Given the description of an element on the screen output the (x, y) to click on. 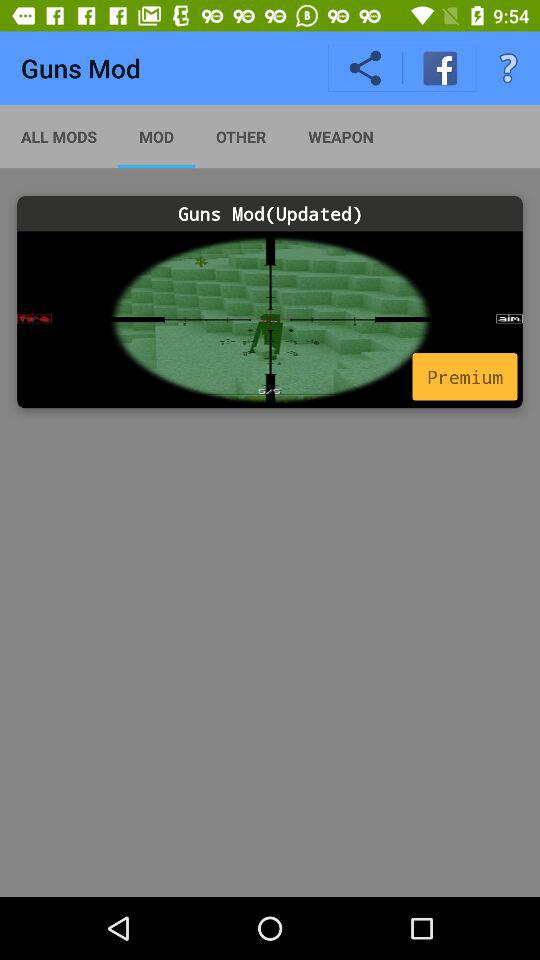
launch the weapon app (340, 136)
